Given the description of an element on the screen output the (x, y) to click on. 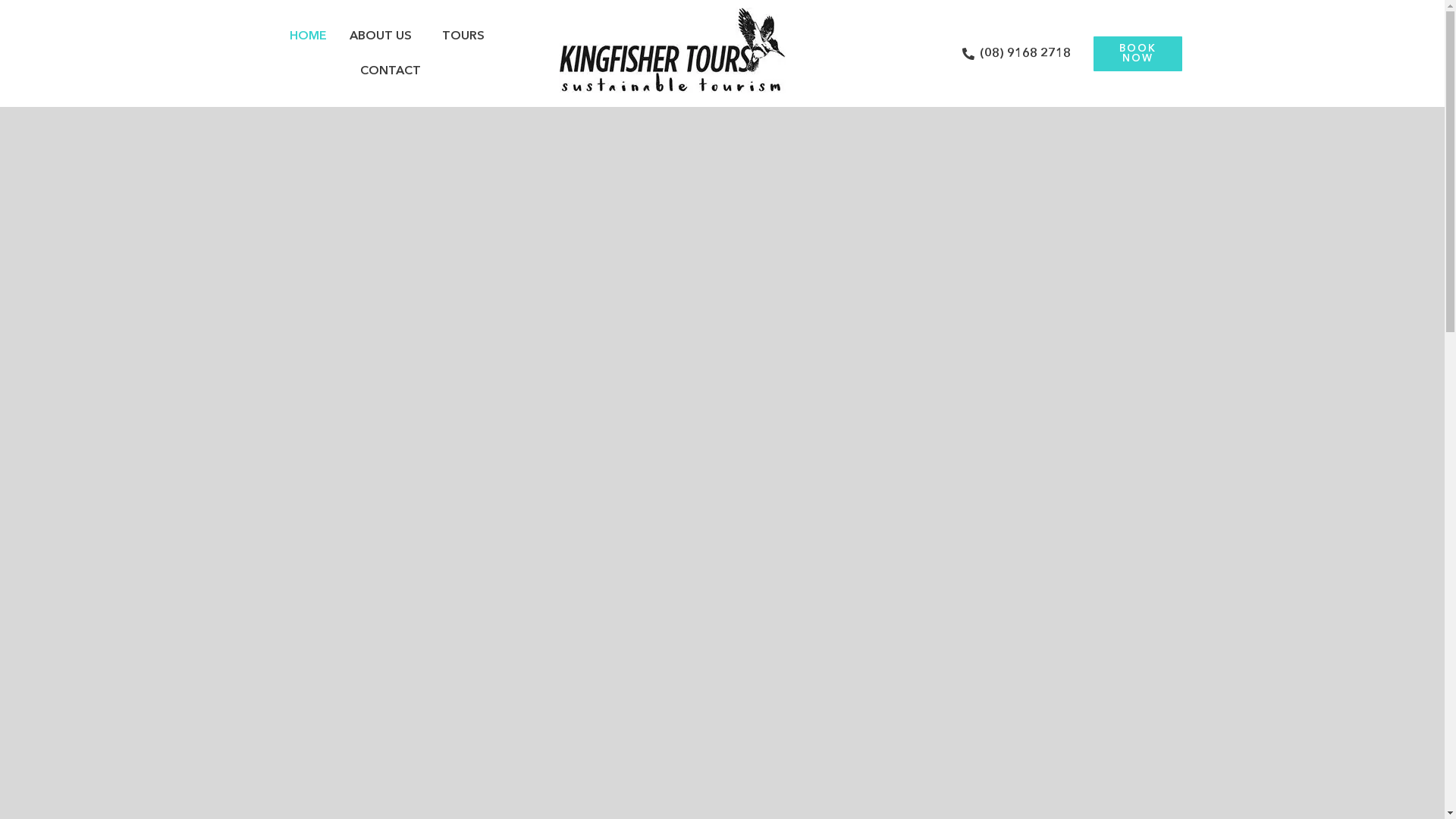
TOURS Element type: text (466, 35)
BOOK NOW Element type: text (1137, 53)
HOME Element type: text (307, 35)
CONTACT Element type: text (390, 70)
ABOUT US Element type: text (384, 35)
(08) 9168 2718 Element type: text (1015, 52)
